Given the description of an element on the screen output the (x, y) to click on. 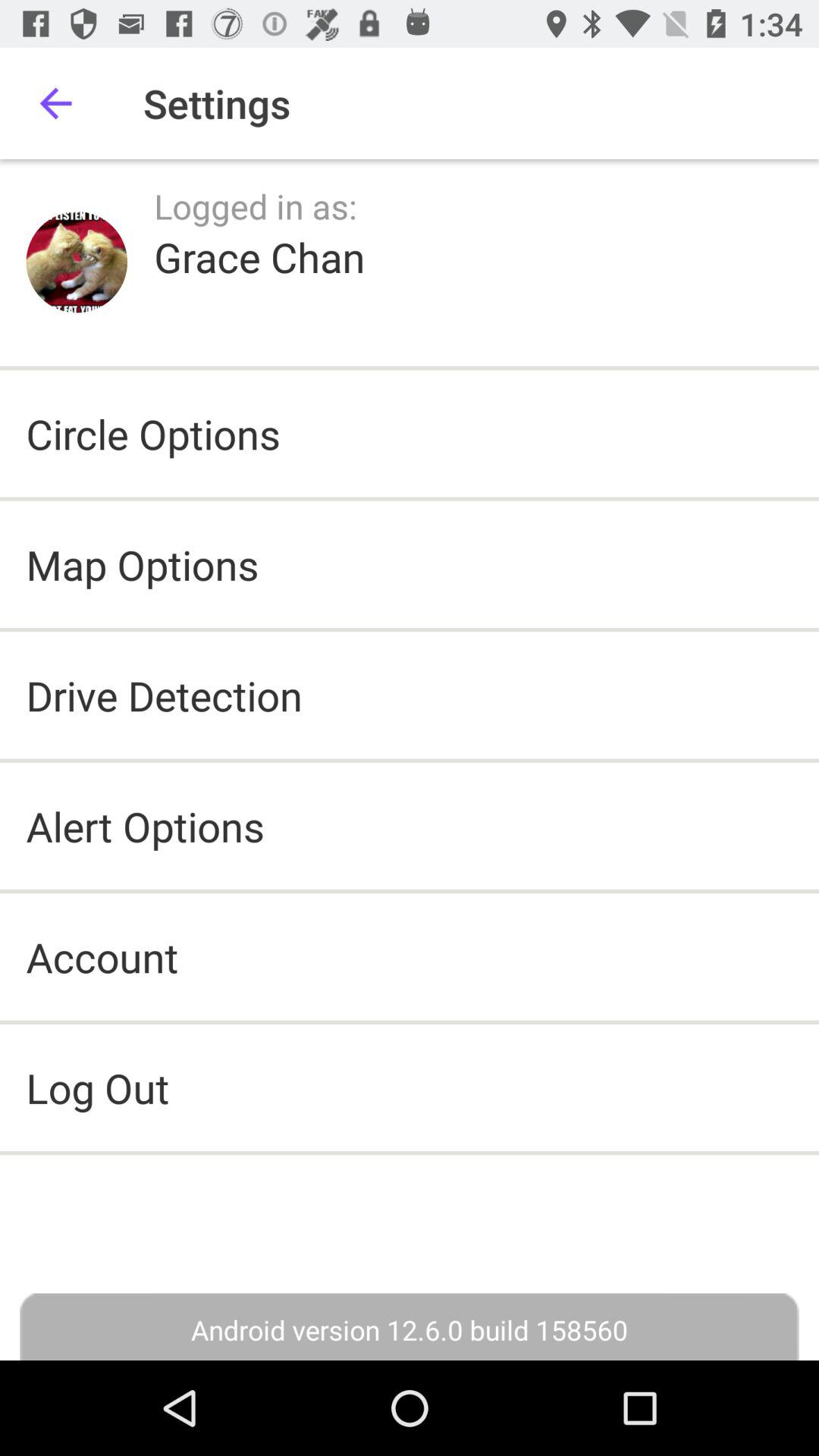
swipe until log out (409, 1087)
